Given the description of an element on the screen output the (x, y) to click on. 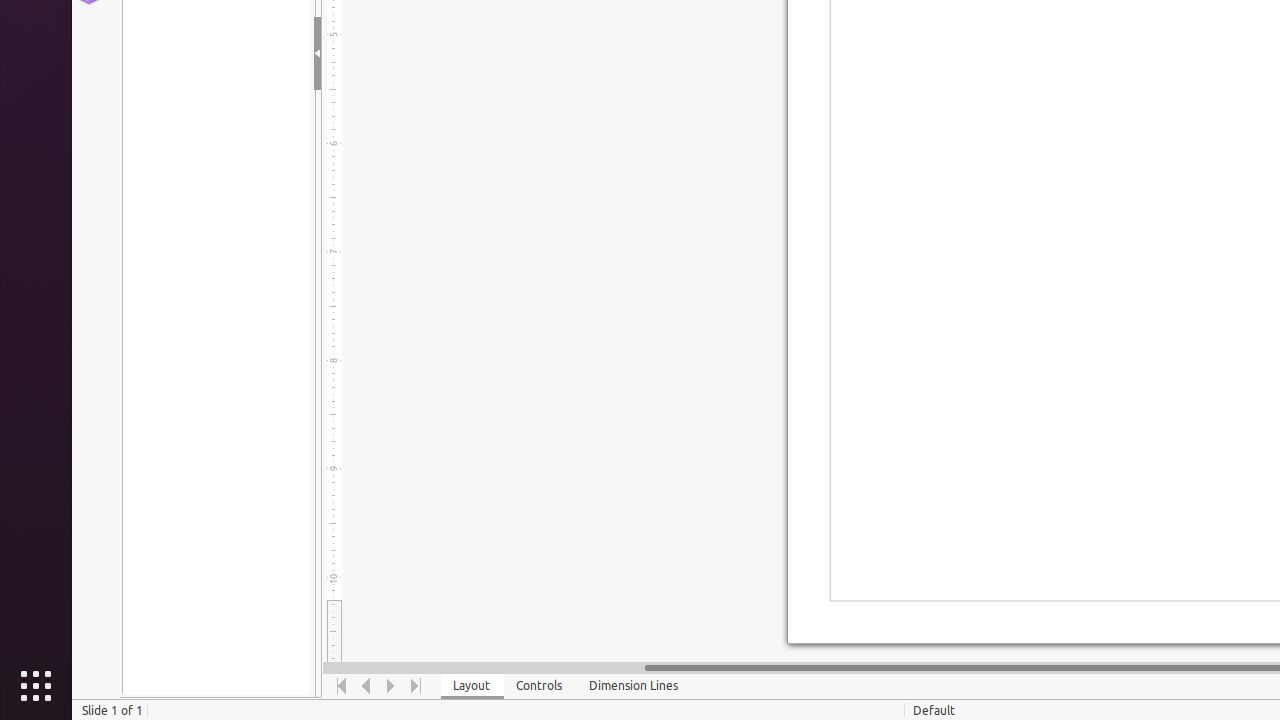
Layout Element type: page-tab (472, 686)
Move Right Element type: push-button (391, 686)
Move Left Element type: push-button (366, 686)
